Given the description of an element on the screen output the (x, y) to click on. 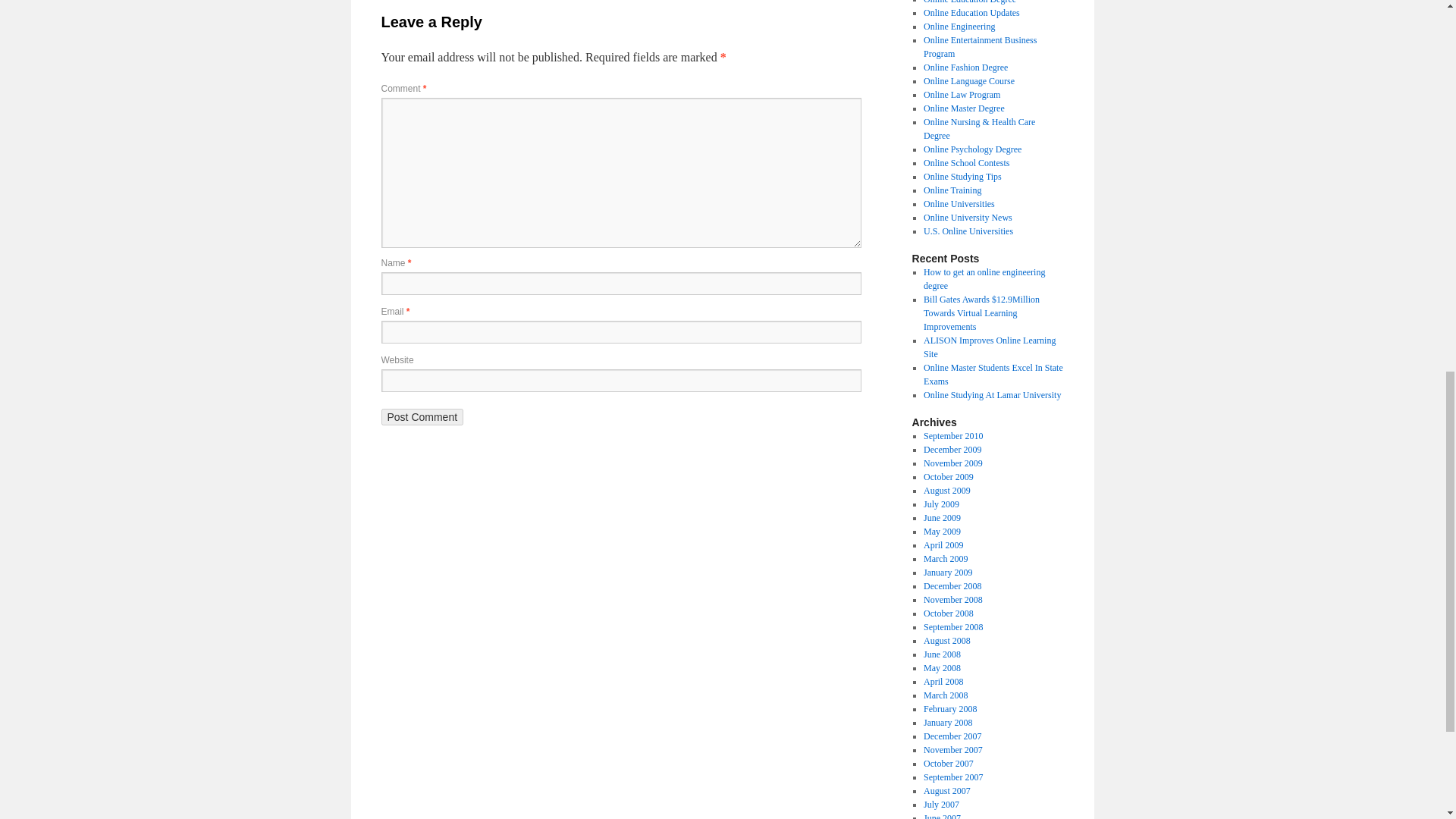
Post Comment (421, 416)
Post Comment (421, 416)
